Given the description of an element on the screen output the (x, y) to click on. 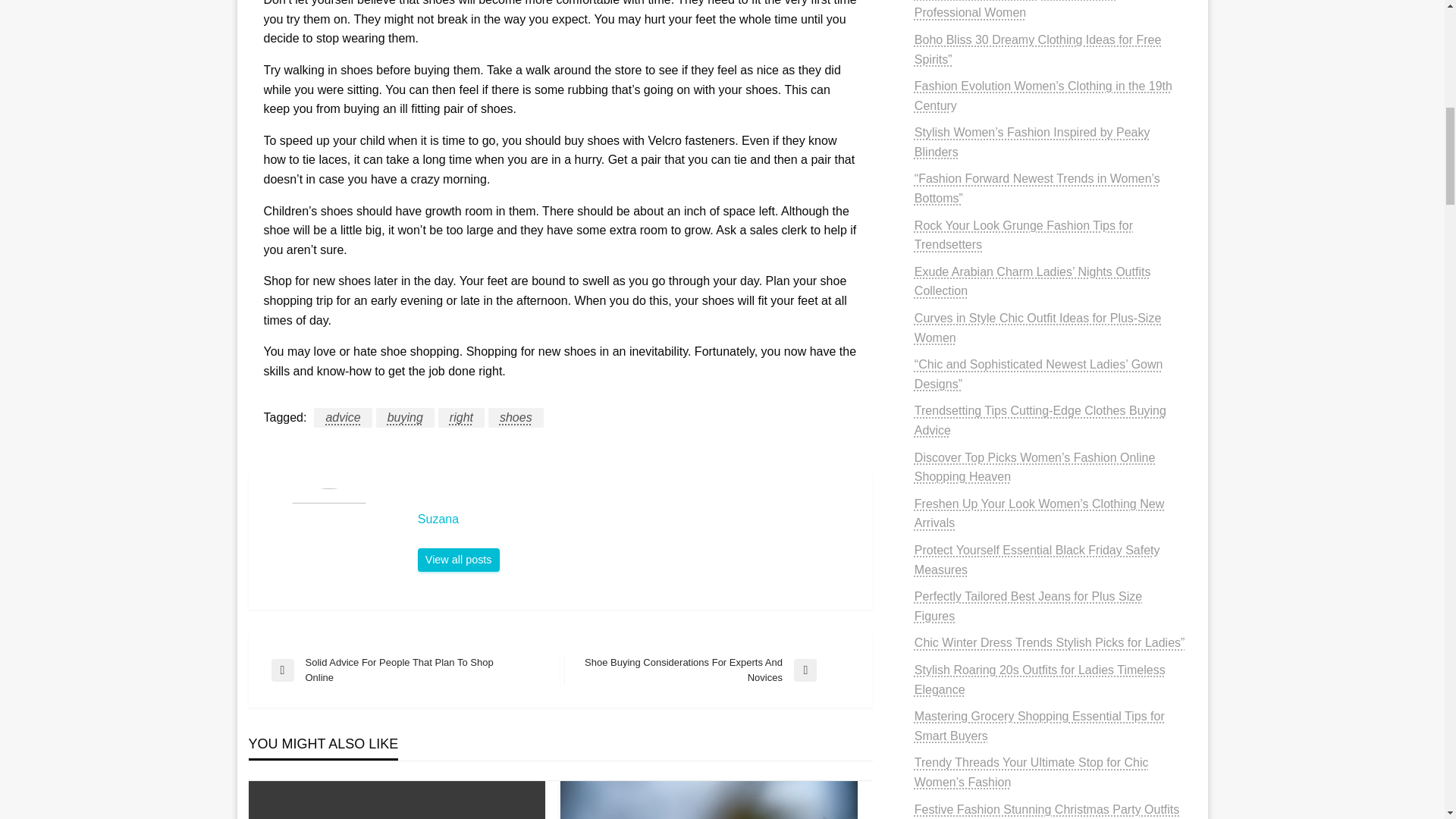
right (707, 669)
buying (461, 417)
advice (404, 417)
Suzana (342, 417)
shoes (637, 519)
Winter Coats 2022 Trendy Styles to Brave the Chill (515, 417)
Suzana (708, 800)
View all posts (458, 559)
Suzana (458, 559)
